Given the description of an element on the screen output the (x, y) to click on. 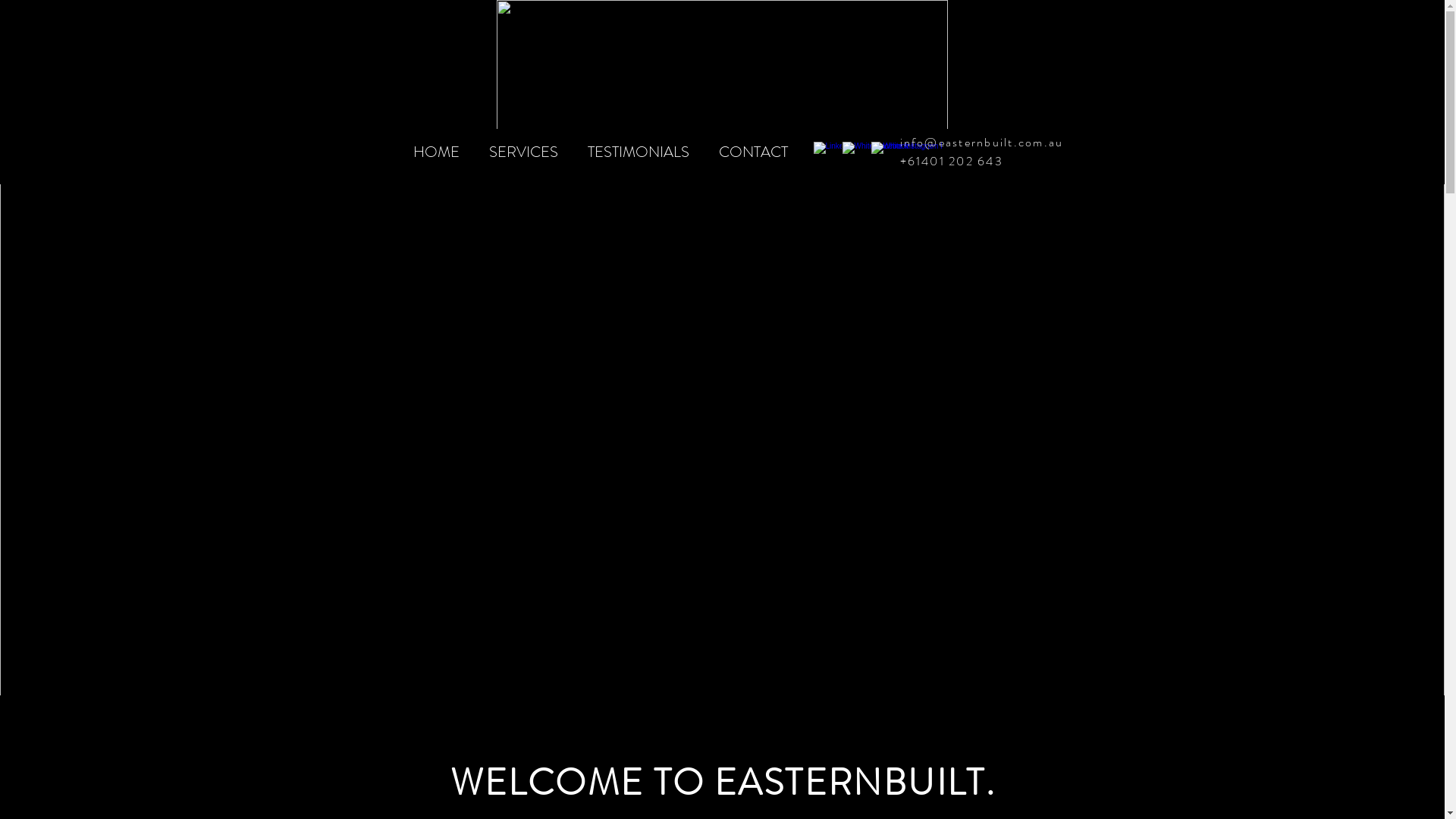
TESTIMONIALS Element type: text (641, 152)
info@easternbuilt.com.au Element type: text (981, 141)
CONTACT Element type: text (755, 152)
HOME Element type: text (439, 152)
SERVICES Element type: text (526, 152)
